Given the description of an element on the screen output the (x, y) to click on. 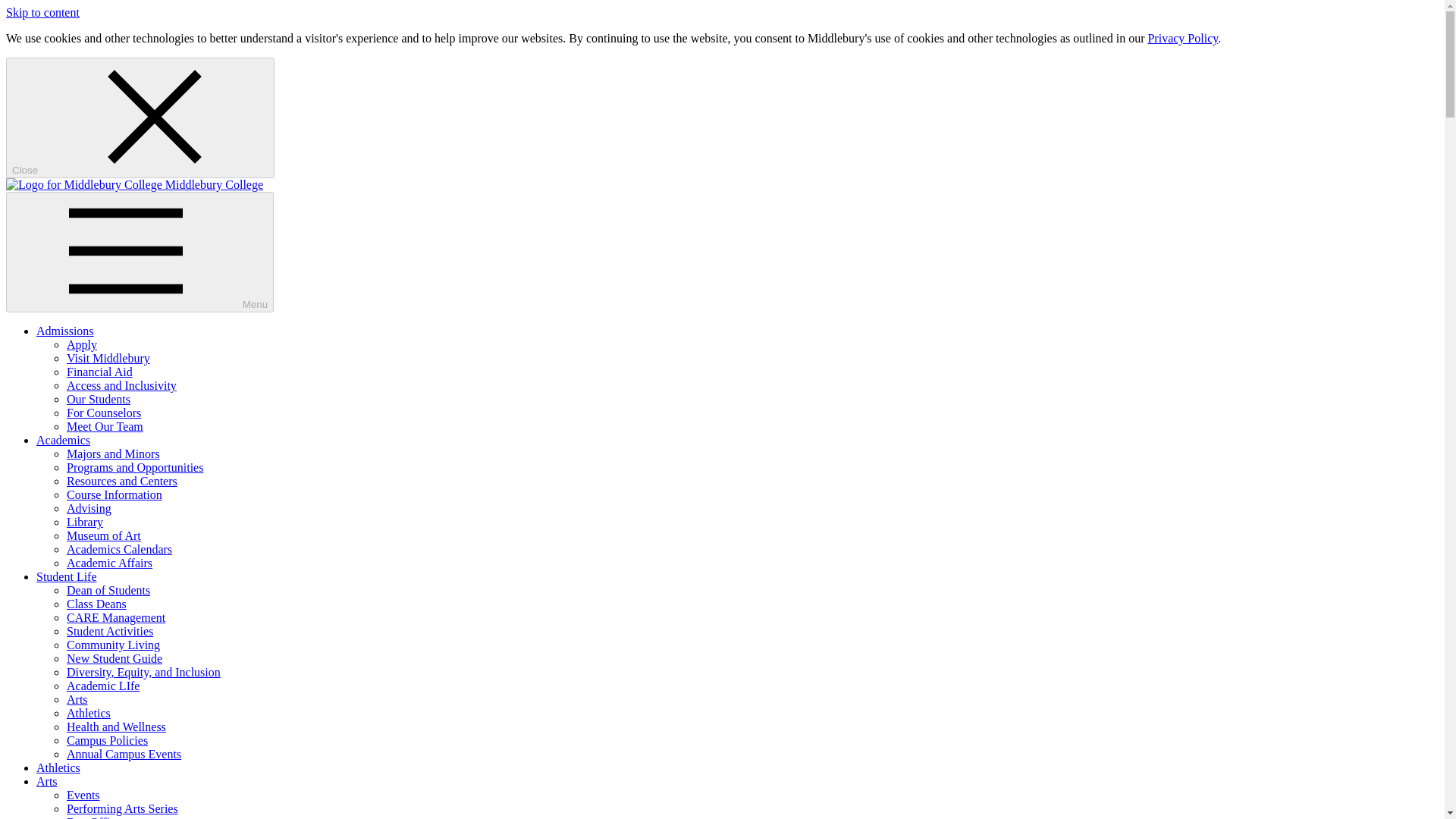
Library (84, 521)
Health and Wellness (115, 726)
Our Students (98, 399)
Arts (47, 780)
Financial Aid (99, 371)
For Counselors (103, 412)
Programs and Opportunities (134, 467)
Visit Middlebury (107, 358)
Student Activities (109, 631)
Close (140, 117)
Annual Campus Events (123, 753)
CARE Management (115, 617)
Academics (63, 440)
Diversity, Equity, and Inclusion (143, 671)
Academics Calendars (118, 549)
